Given the description of an element on the screen output the (x, y) to click on. 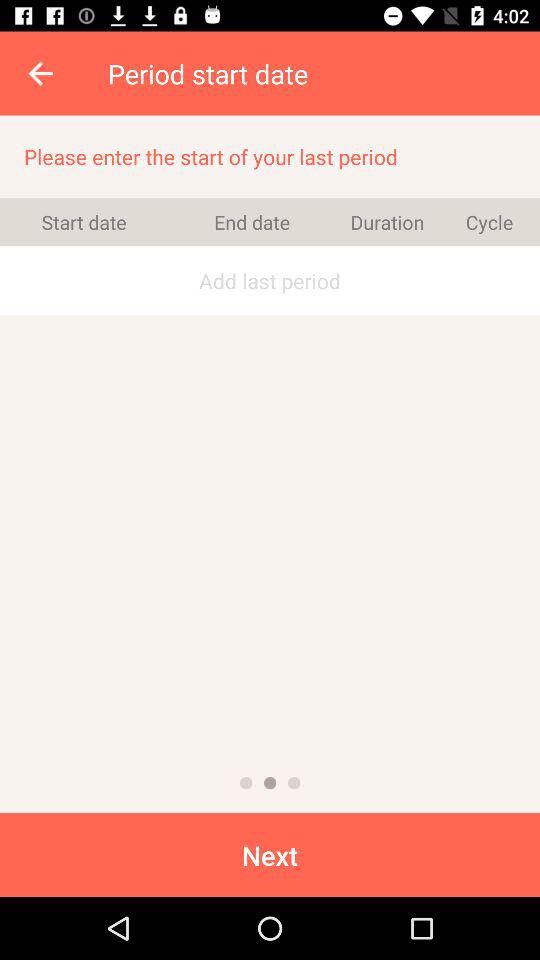
page 3 (294, 783)
